Given the description of an element on the screen output the (x, y) to click on. 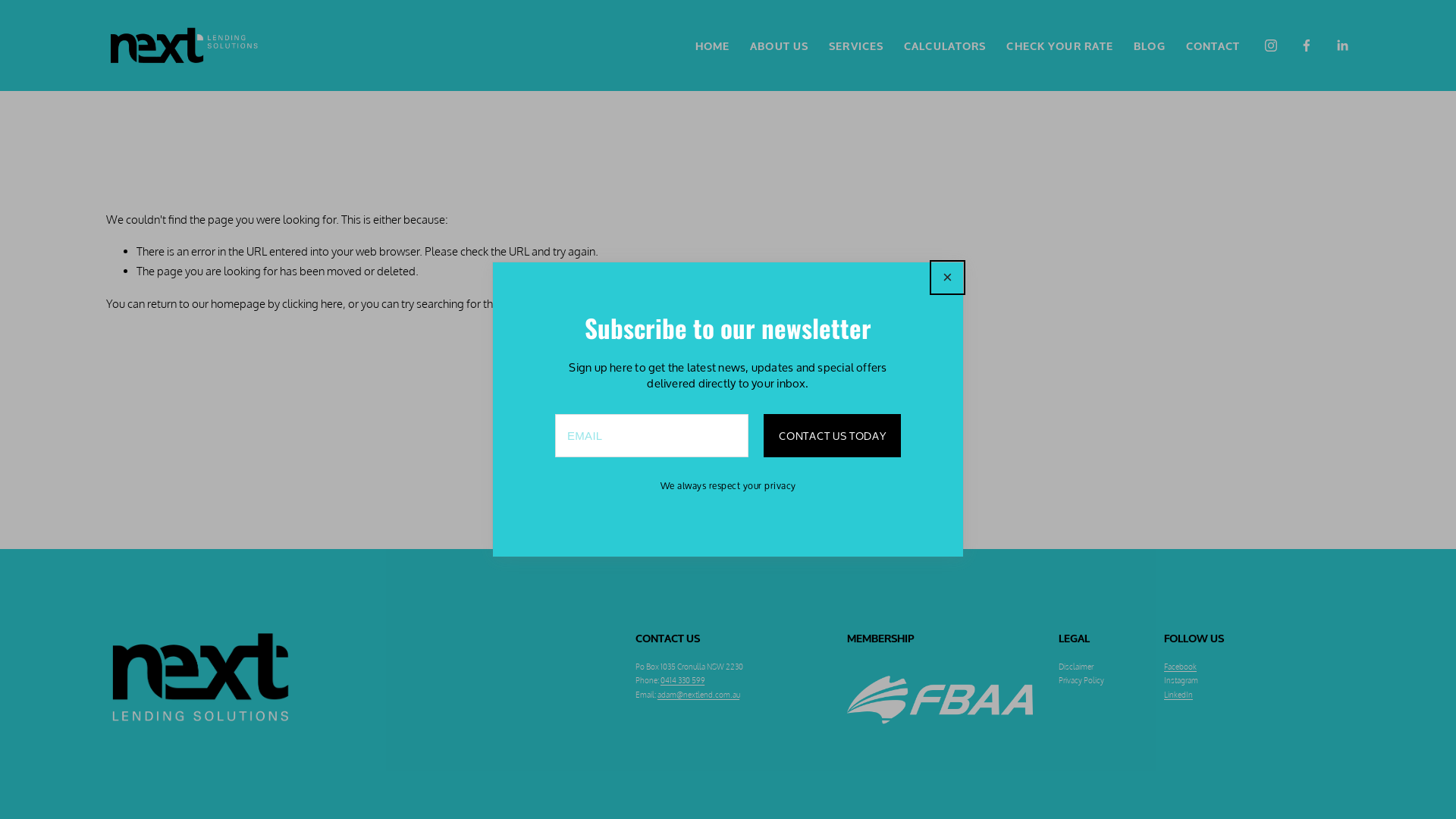
CONTACT Element type: text (1213, 45)
0414 330 599 Element type: text (681, 680)
clicking here Element type: text (312, 303)
clicking here Element type: text (664, 303)
ABOUT US Element type: text (778, 45)
SERVICES Element type: text (855, 45)
BLOG Element type: text (1149, 45)
Facebook Element type: text (1180, 666)
CHECK YOUR RATE Element type: text (1059, 45)
adam@nextlend.com.au Element type: text (697, 694)
HOME Element type: text (712, 45)
CALCULATORS Element type: text (944, 45)
LinkedIn Element type: text (1178, 694)
